Given the description of an element on the screen output the (x, y) to click on. 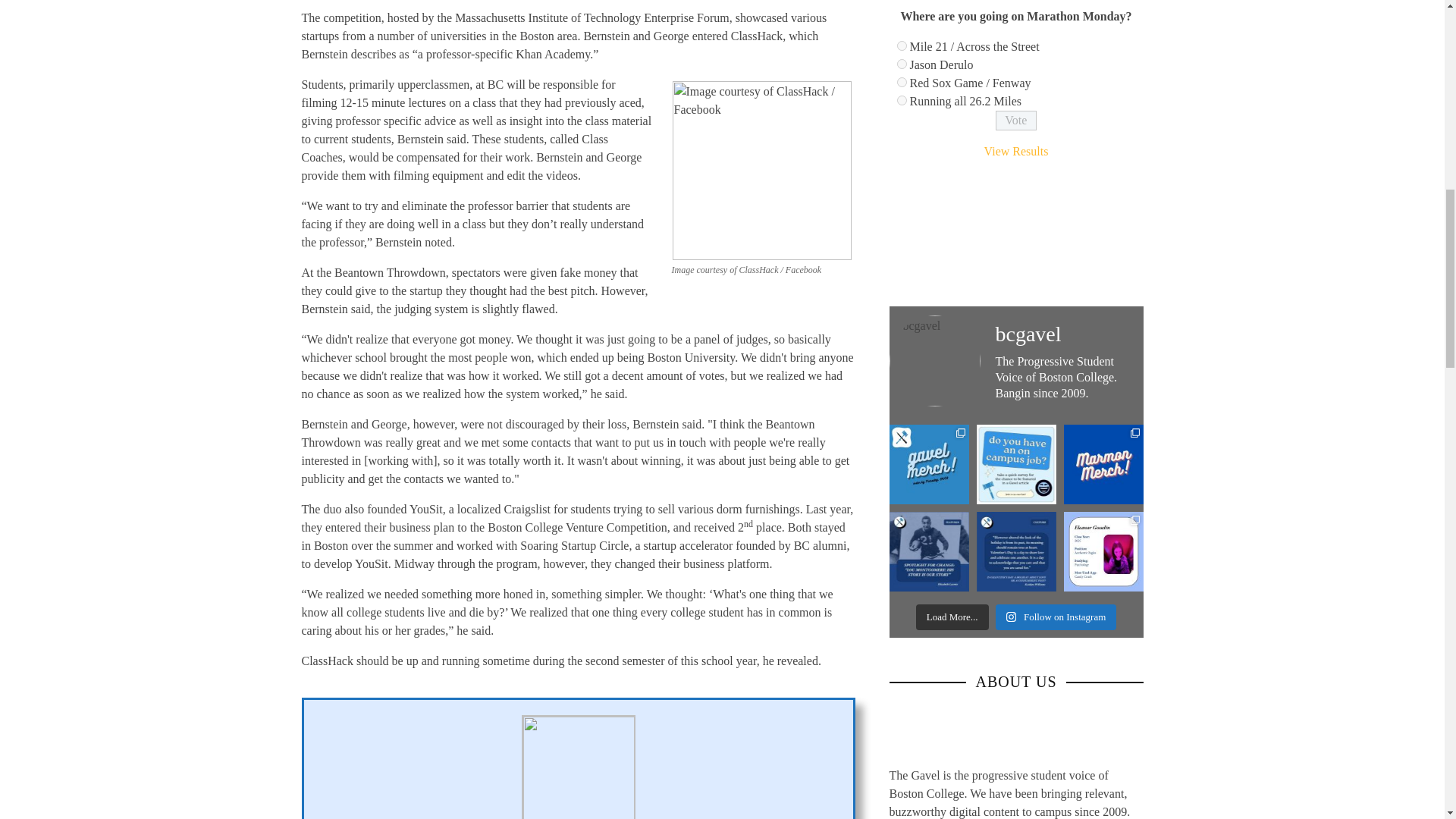
187 (900, 45)
190 (900, 100)
View Results Of This Poll (1016, 151)
189 (900, 81)
   Vote    (1015, 120)
188 (900, 63)
